Given the description of an element on the screen output the (x, y) to click on. 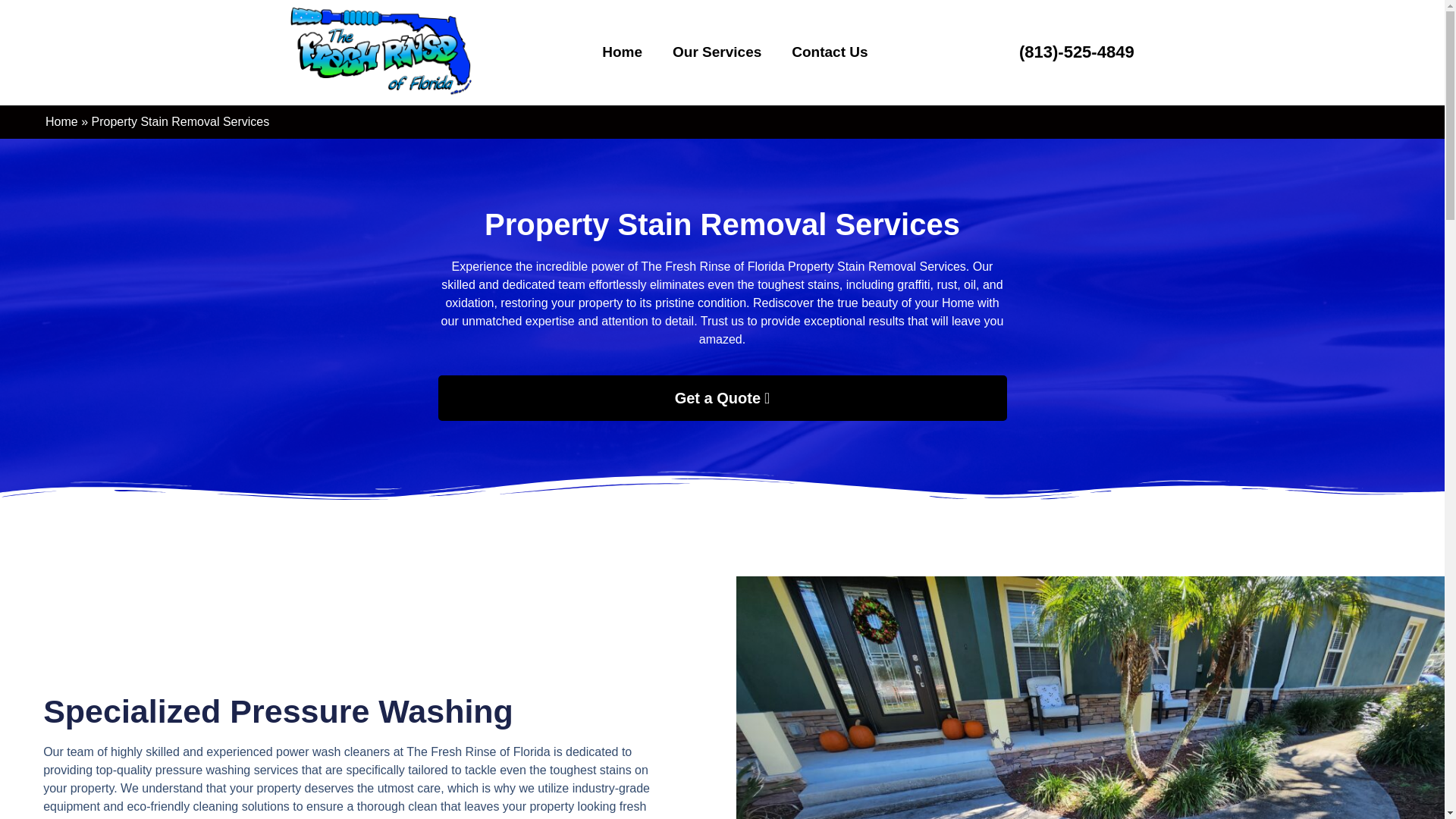
Get a Quote (722, 397)
Contact Us (829, 52)
Home (622, 52)
Our Services (717, 52)
Home (61, 121)
